Given the description of an element on the screen output the (x, y) to click on. 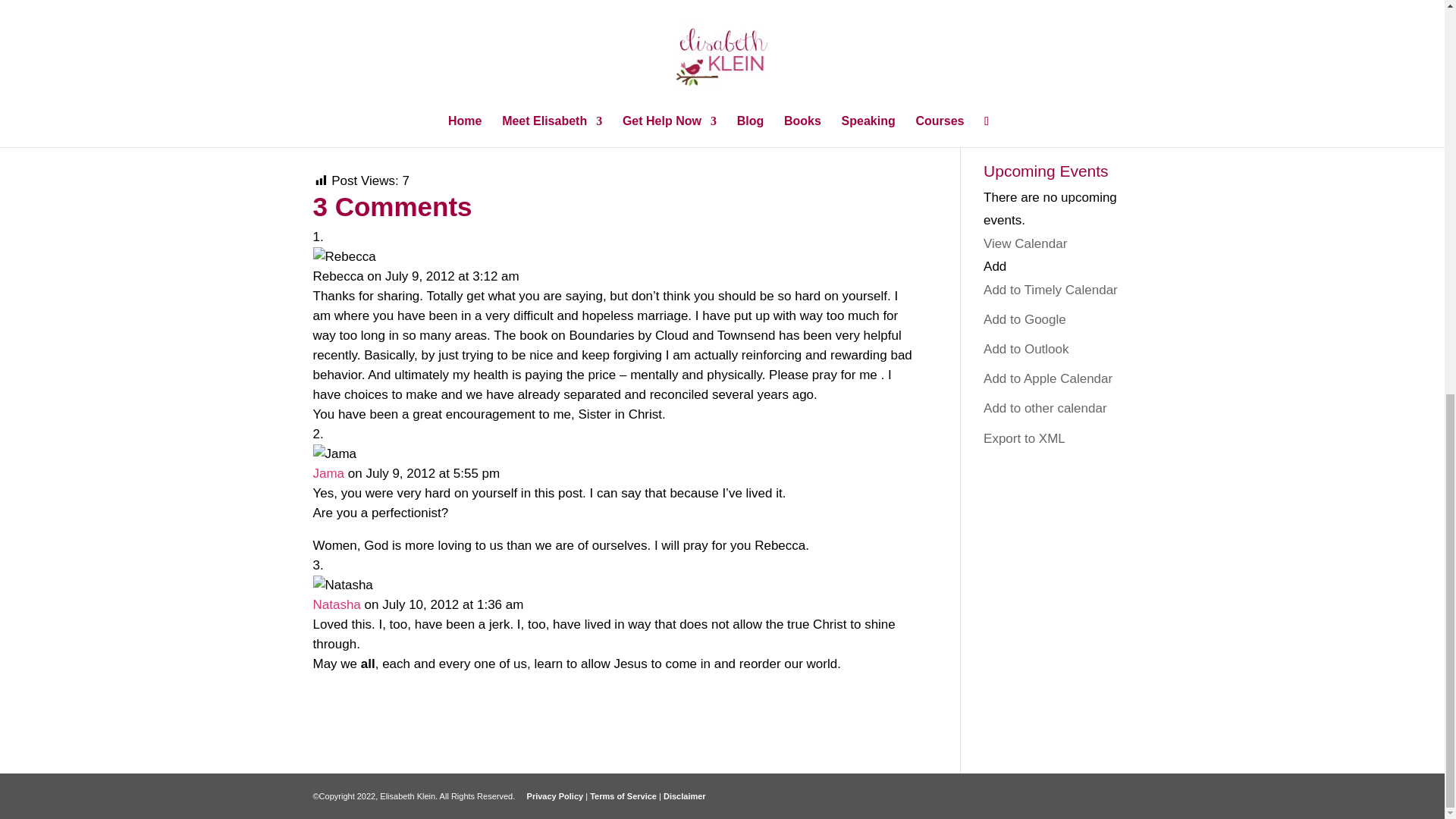
Subscribe to this calendar in MS Outlook (1026, 349)
Jama (328, 473)
Natasha (336, 604)
Subscribe to this calendar in your Google Calendar (1024, 319)
Subscribe to this calendar in another plain-text calendar (1045, 408)
here (802, 120)
